Given the description of an element on the screen output the (x, y) to click on. 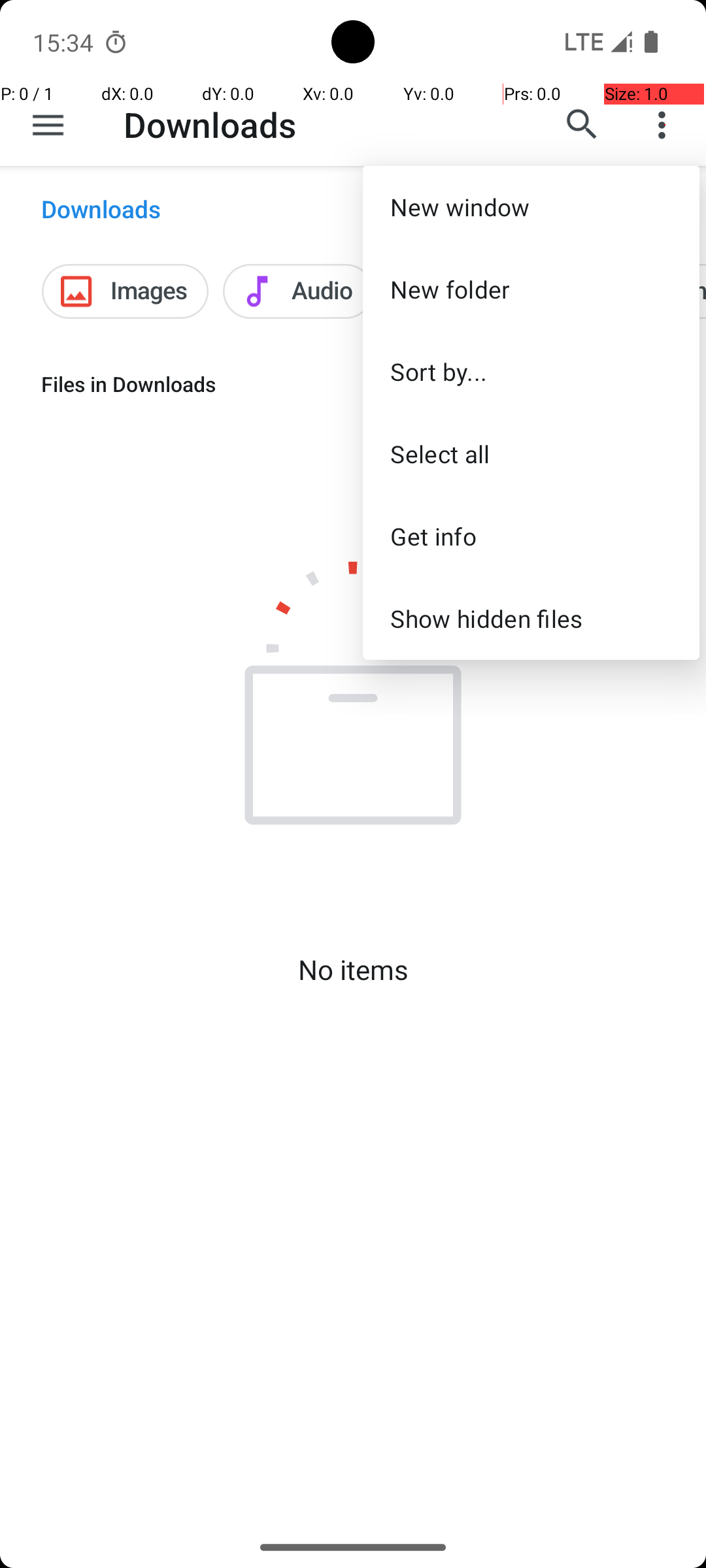
New window Element type: android.widget.TextView (531, 206)
New folder Element type: android.widget.TextView (531, 288)
Sort by... Element type: android.widget.TextView (531, 371)
Select all Element type: android.widget.TextView (531, 453)
Get info Element type: android.widget.TextView (531, 535)
Show hidden files Element type: android.widget.TextView (531, 618)
